Given the description of an element on the screen output the (x, y) to click on. 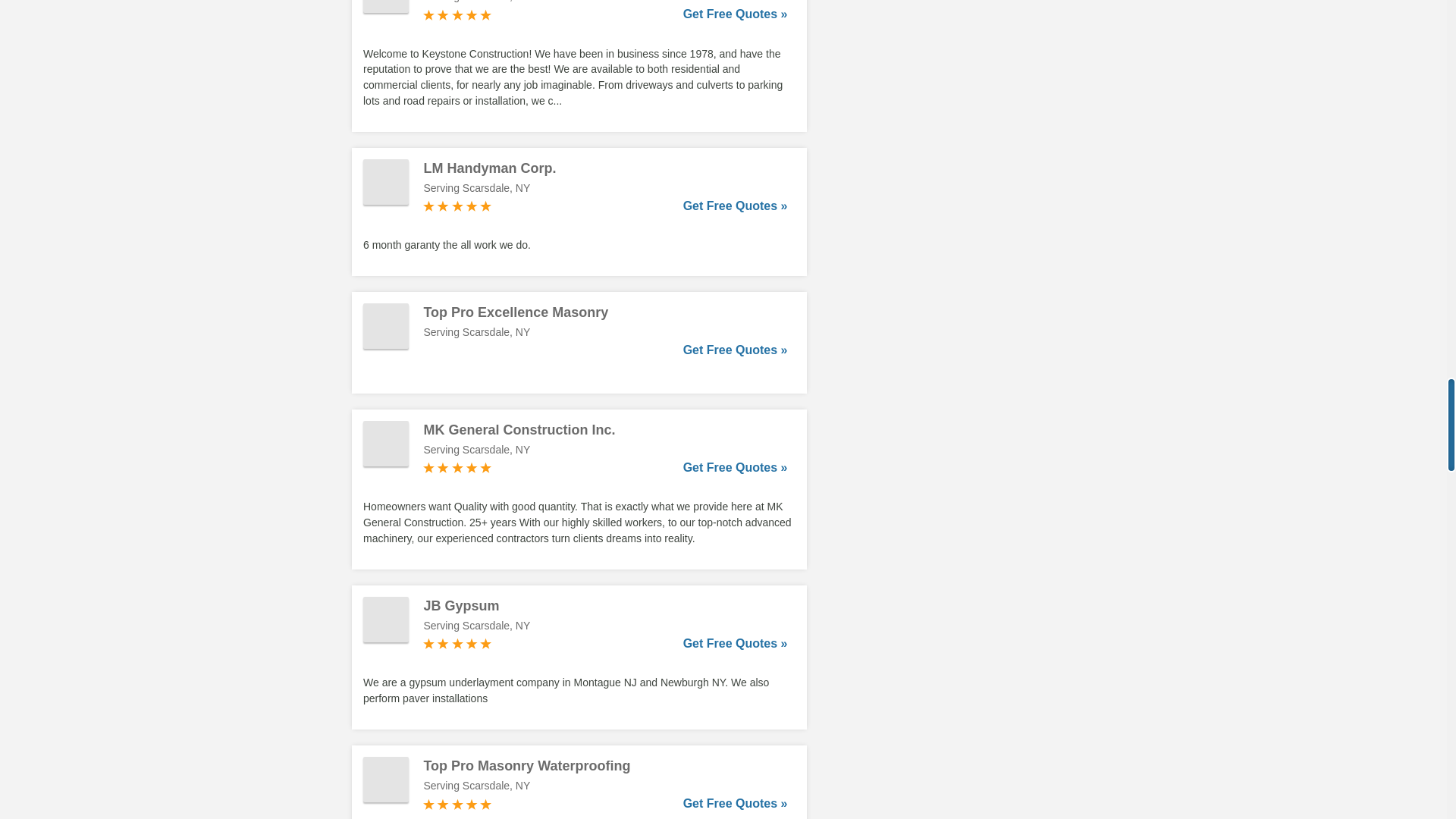
5 star rating (457, 205)
5 star rating (457, 643)
5 star rating (457, 468)
5 star rating (457, 15)
5 star rating (457, 804)
